Given the description of an element on the screen output the (x, y) to click on. 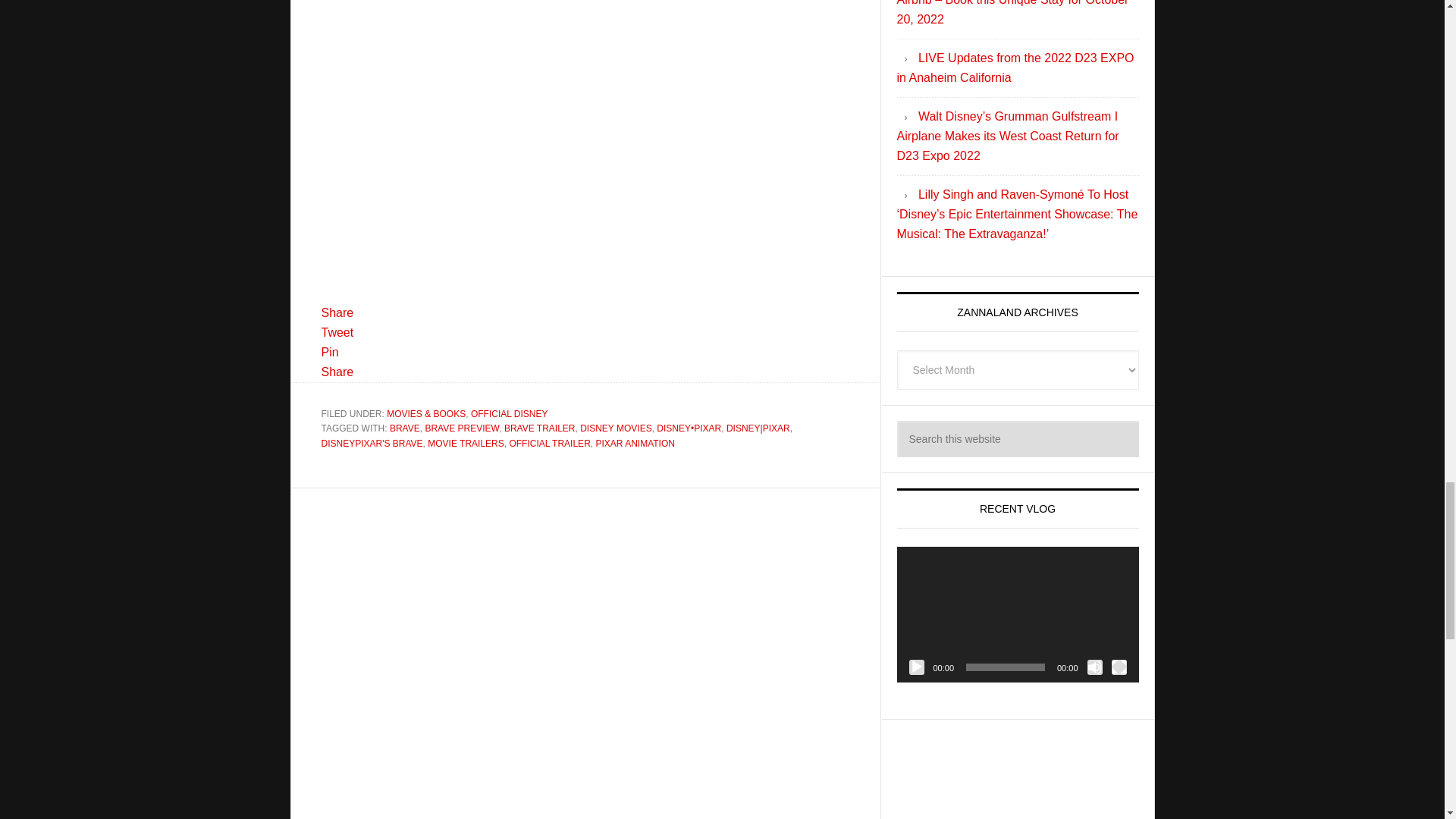
Mute (1094, 667)
Play (915, 667)
Fullscreen (1119, 667)
